Given the description of an element on the screen output the (x, y) to click on. 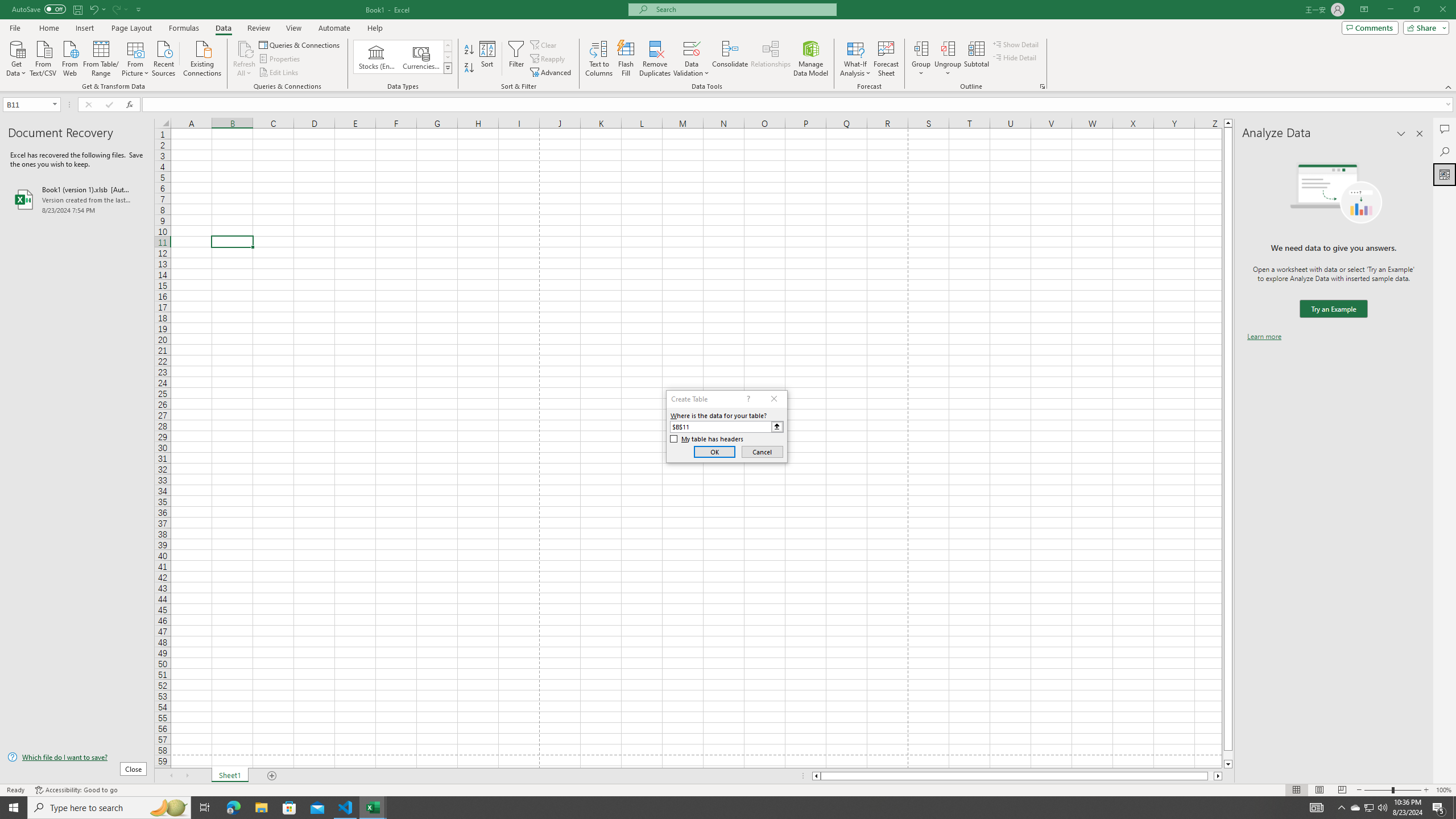
Sort A to Z (469, 49)
Currencies (English) (420, 56)
Filter (515, 58)
Hide Detail (1014, 56)
Book1 (version 1).xlsb  [AutoRecovered] (77, 199)
Sort Z to A (469, 67)
Existing Connections (202, 57)
Forecast Sheet (885, 58)
